Given the description of an element on the screen output the (x, y) to click on. 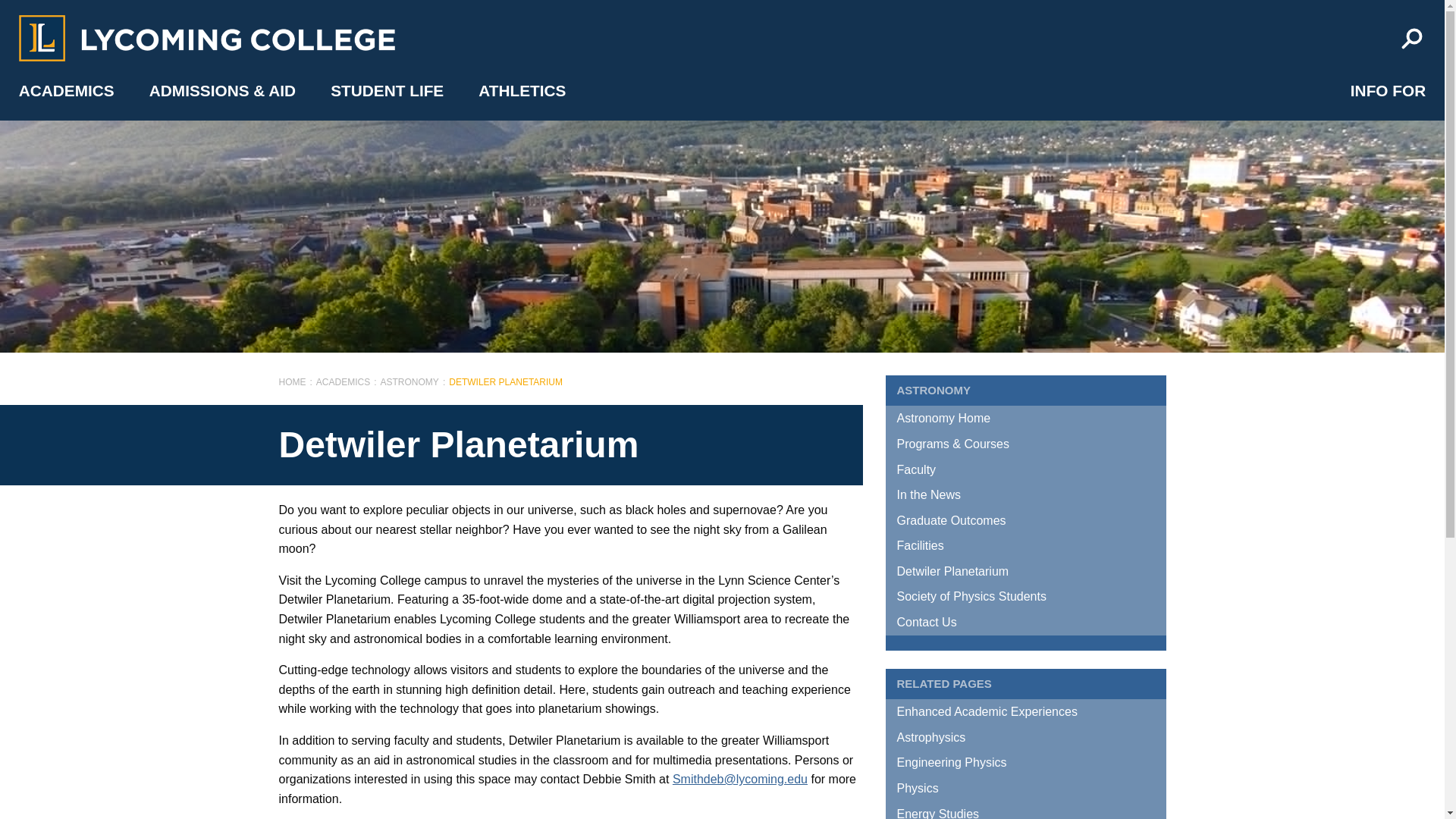
Search (1411, 38)
INFO FOR (1388, 90)
ACADEMICS (66, 90)
ATHLETICS (521, 90)
STUDENT LIFE (387, 90)
